Given the description of an element on the screen output the (x, y) to click on. 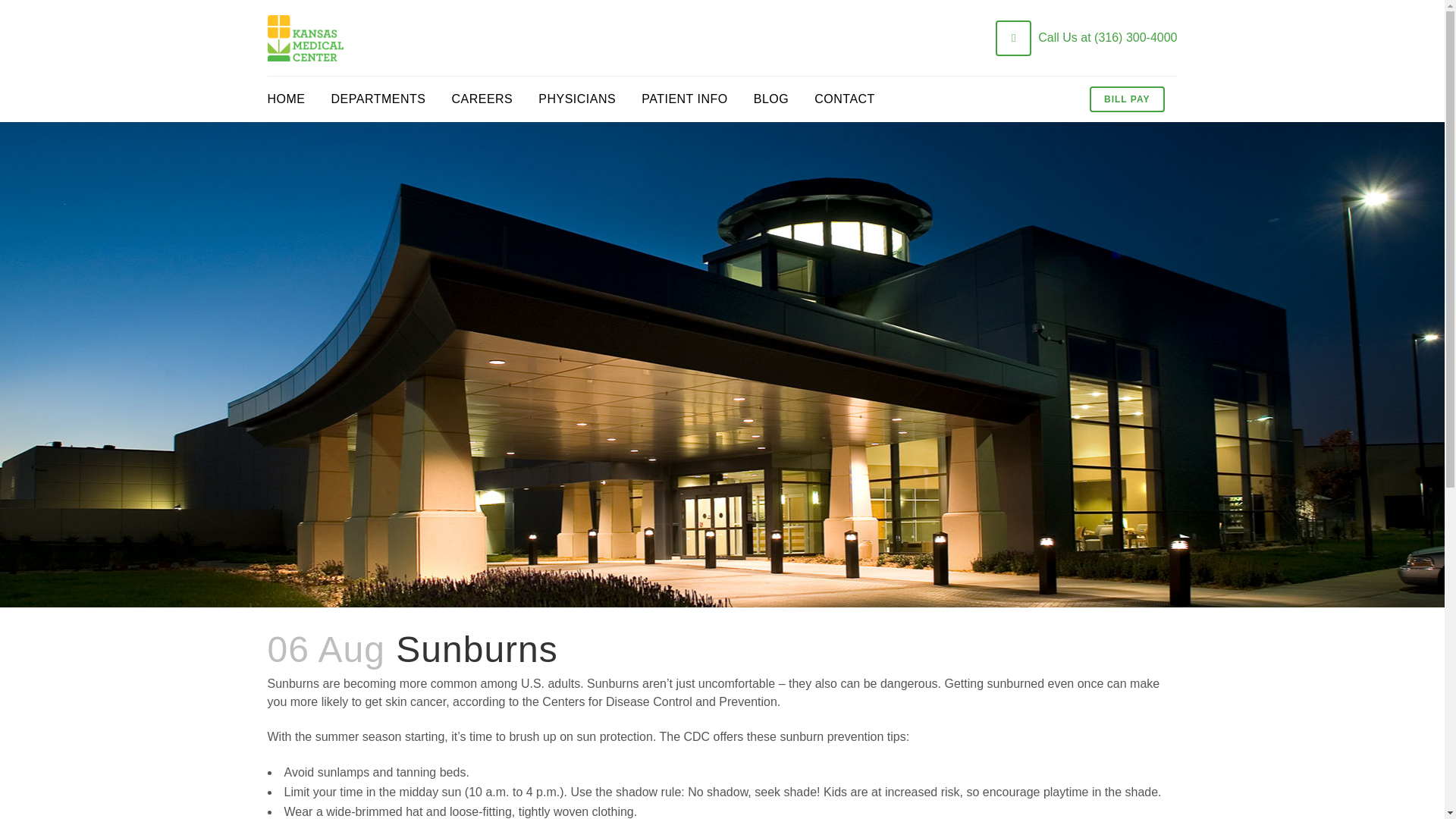
BILL PAY (1126, 99)
DEPARTMENTS (378, 99)
PHYSICIANS (576, 99)
HOME (291, 99)
CONTACT (845, 99)
PATIENT INFO (684, 99)
BLOG (771, 99)
CAREERS (481, 99)
